Given the description of an element on the screen output the (x, y) to click on. 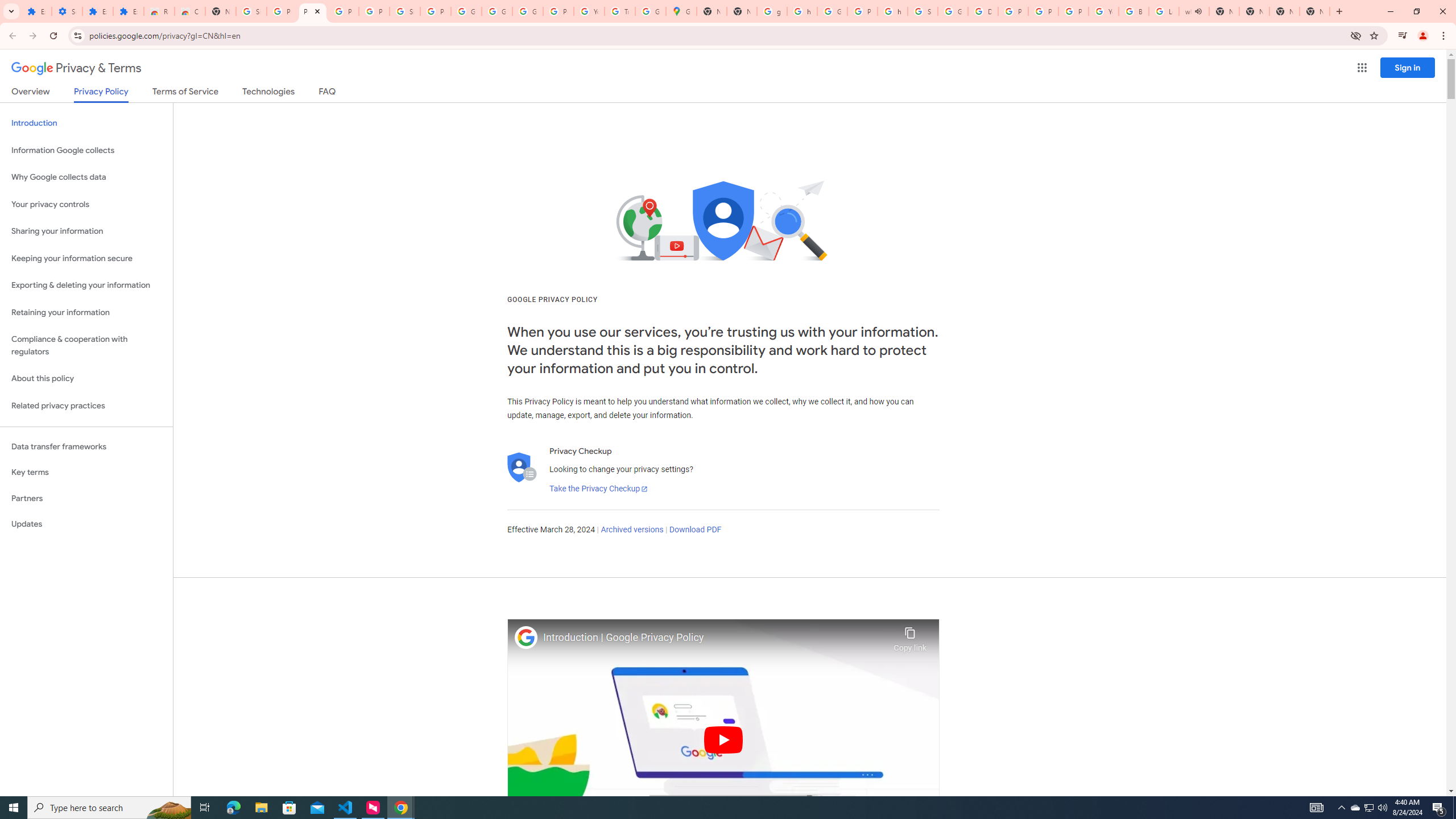
YouTube (1103, 11)
Settings (66, 11)
Photo image of Google (526, 636)
Privacy & Terms (76, 68)
FAQ (327, 93)
Compliance & cooperation with regulators (86, 345)
Take the Privacy Checkup (597, 488)
